Given the description of an element on the screen output the (x, y) to click on. 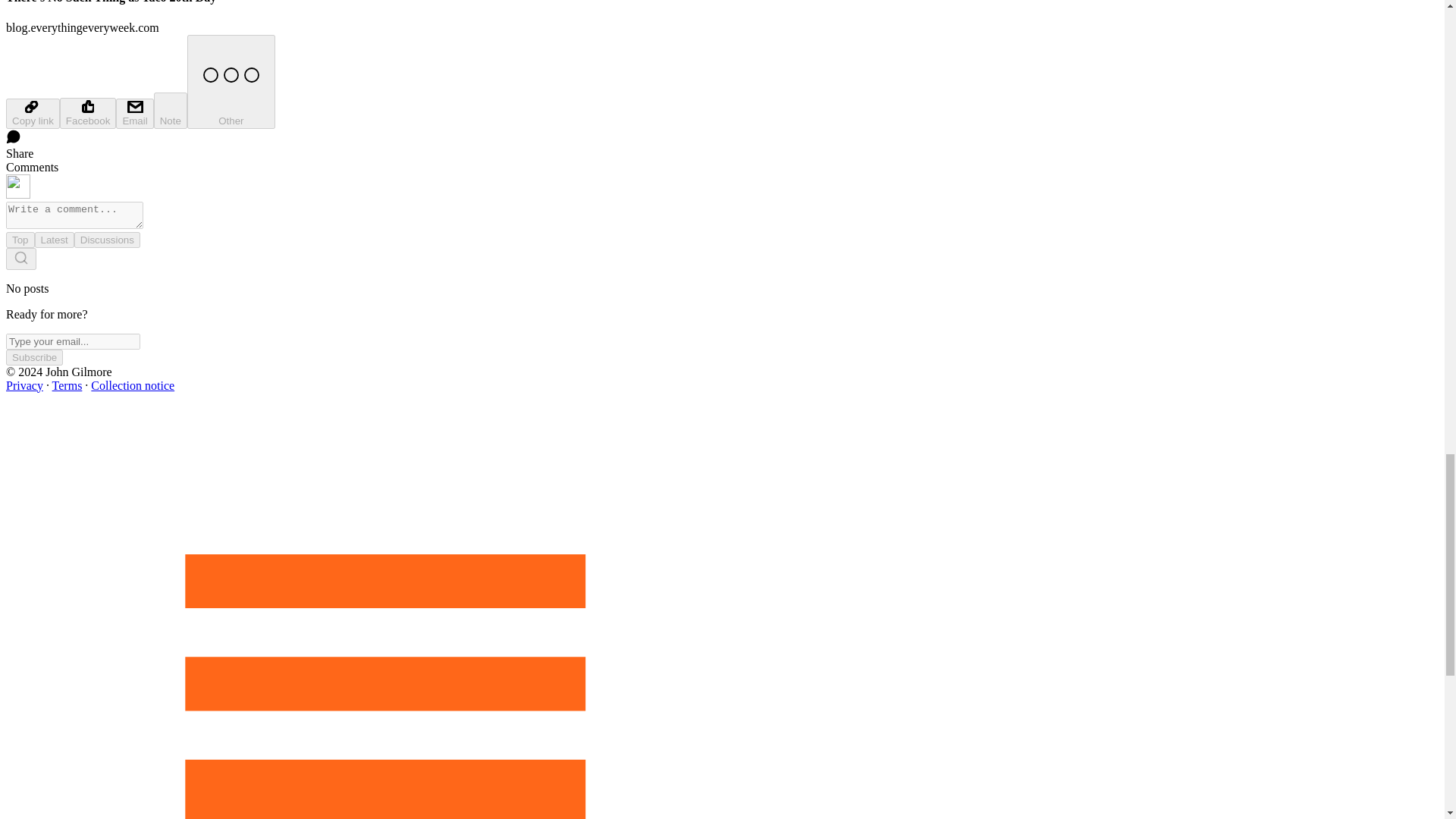
Note (170, 110)
Top (19, 239)
Facebook (87, 112)
Copy link (32, 113)
Other (231, 81)
Latest (54, 239)
Email (134, 113)
